Given the description of an element on the screen output the (x, y) to click on. 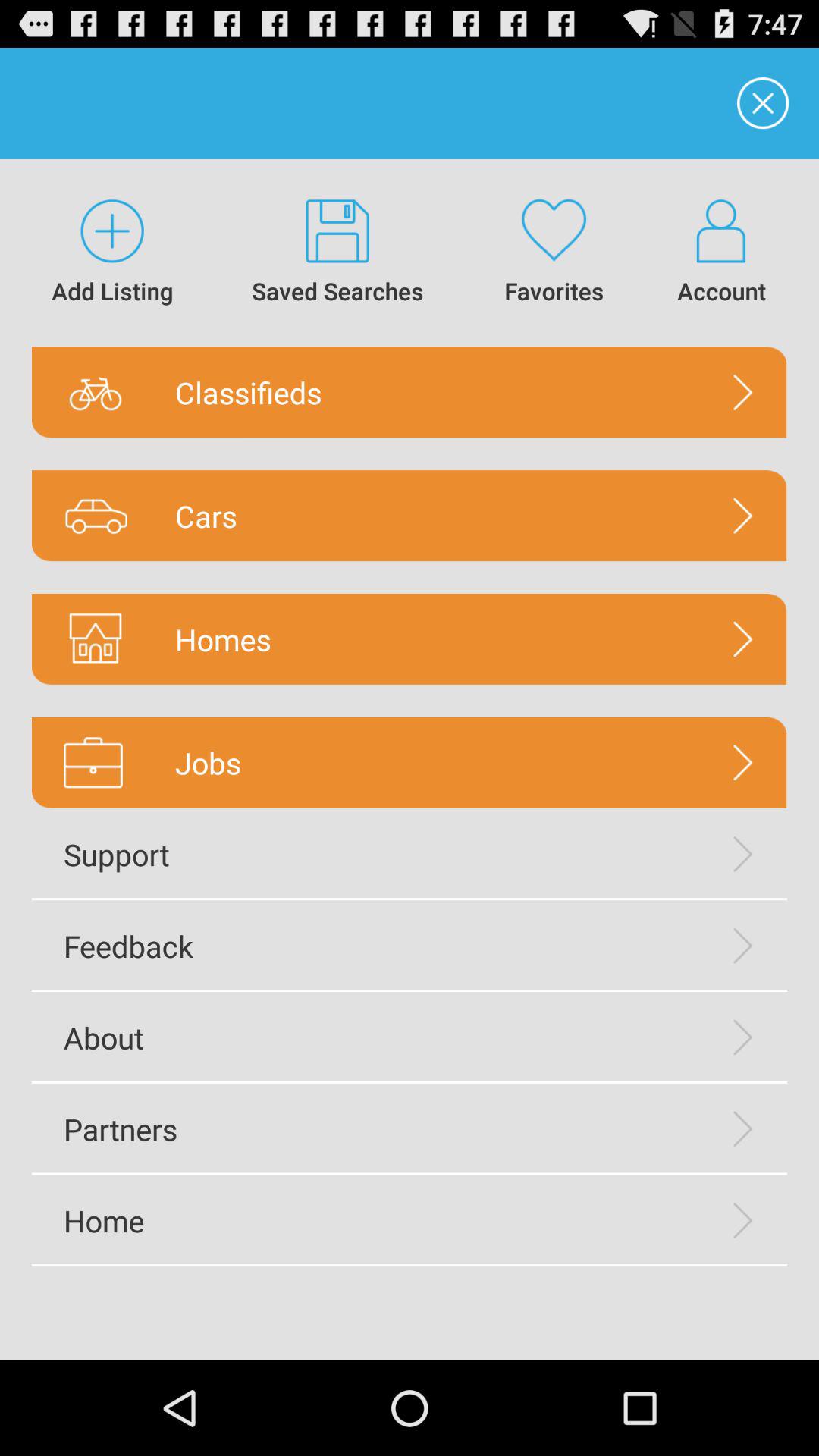
turn off the favorites icon (553, 253)
